Given the description of an element on the screen output the (x, y) to click on. 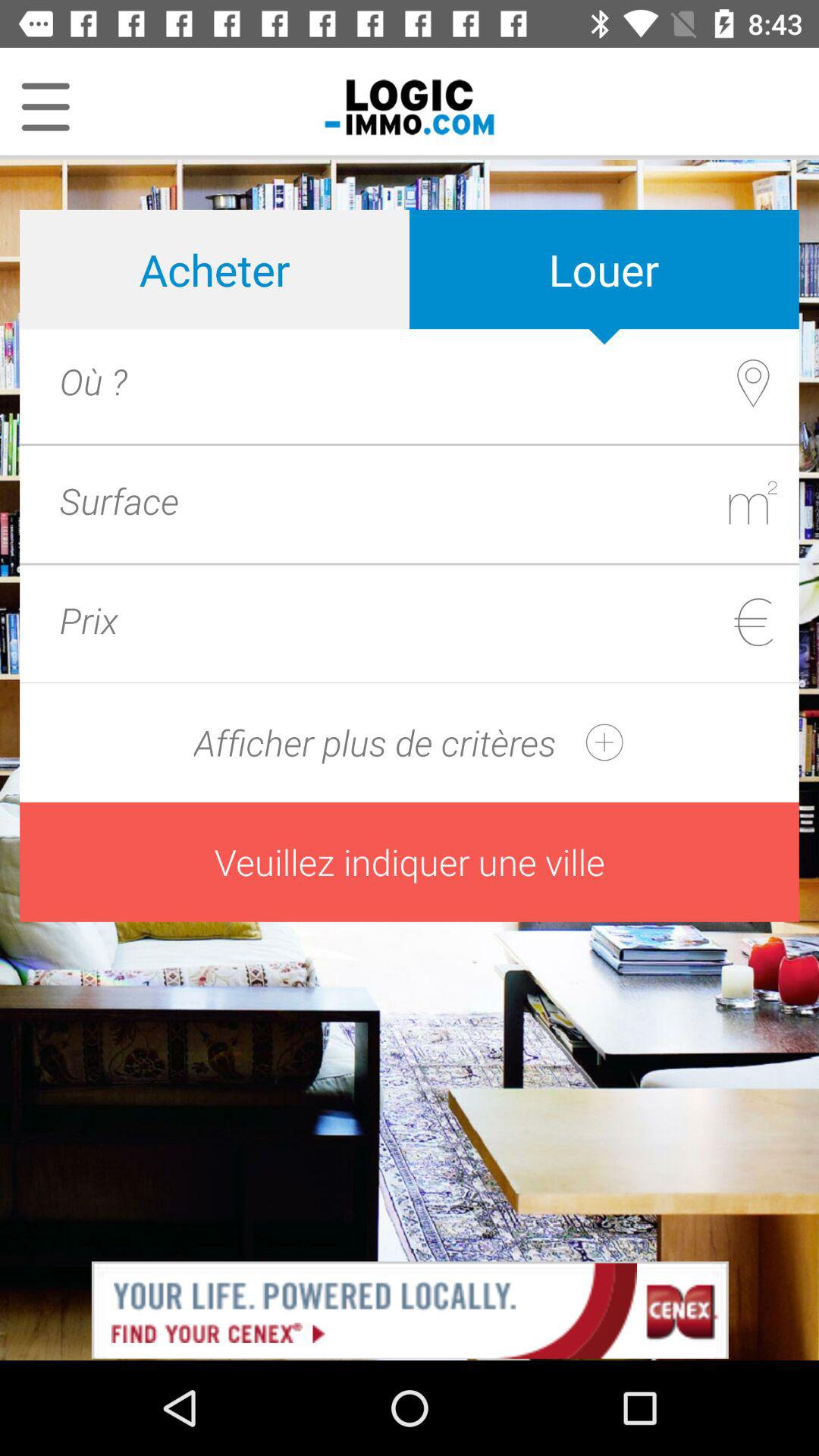
takes you to this advertisement (409, 1308)
